Given the description of an element on the screen output the (x, y) to click on. 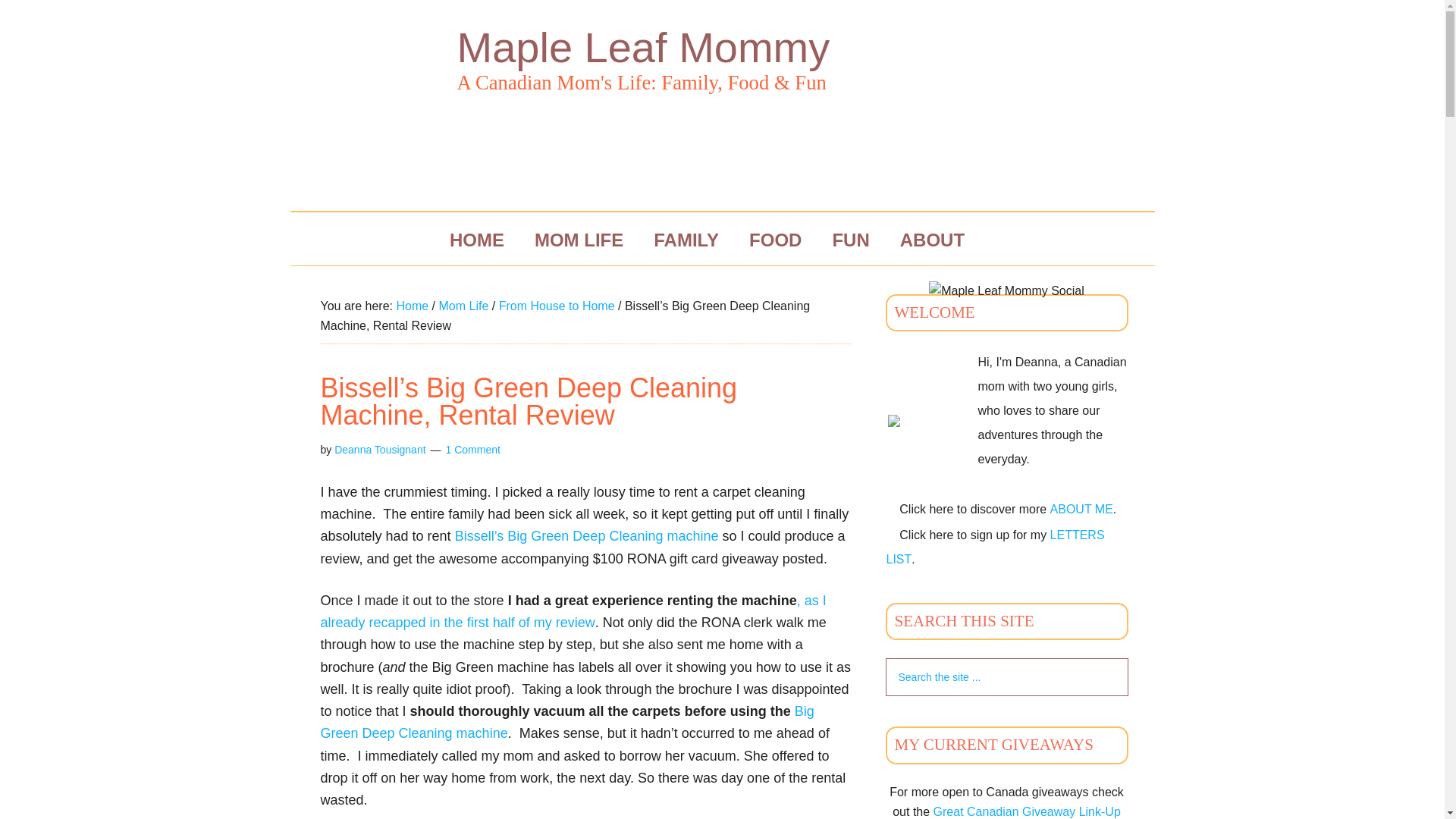
Home (412, 305)
Big Green Deep Cleaning machine (566, 722)
1 Comment (472, 449)
ABOUT (932, 240)
From House to Home (556, 305)
FOOD (774, 240)
HOME (476, 240)
FUN (849, 240)
